Given the description of an element on the screen output the (x, y) to click on. 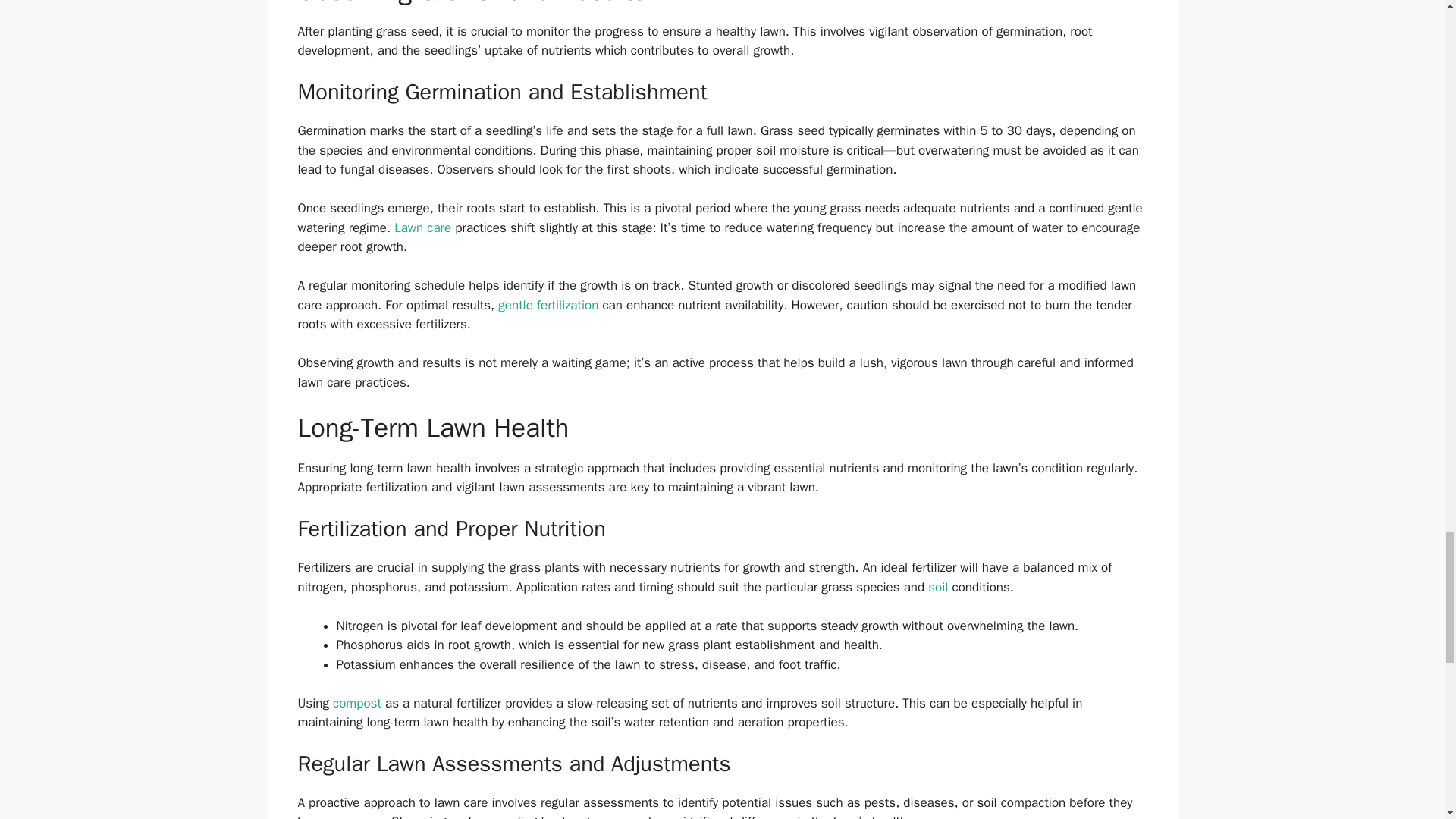
Lawn care (422, 227)
compost (357, 703)
soil (937, 587)
gentle fertilization (547, 304)
